Given the description of an element on the screen output the (x, y) to click on. 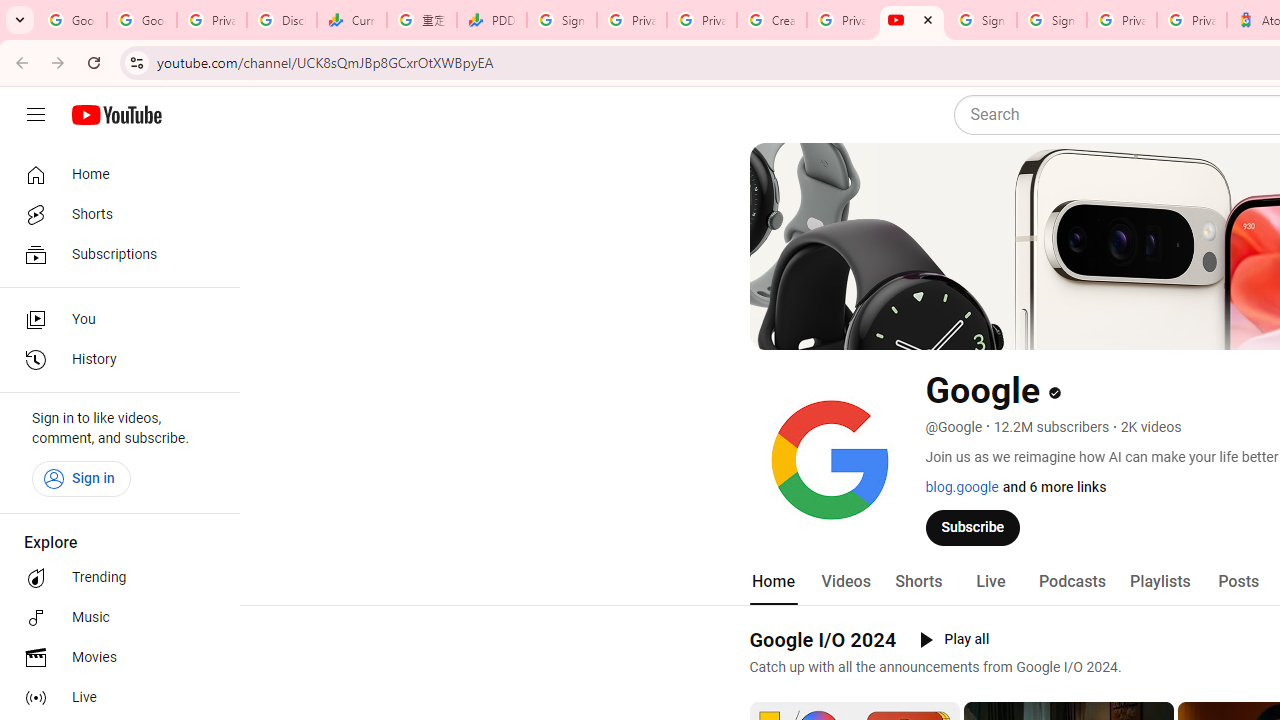
Live (990, 581)
Subscribe (973, 527)
Home (772, 581)
Home (113, 174)
Sign in - Google Accounts (982, 20)
History (113, 359)
Trending (113, 578)
